Given the description of an element on the screen output the (x, y) to click on. 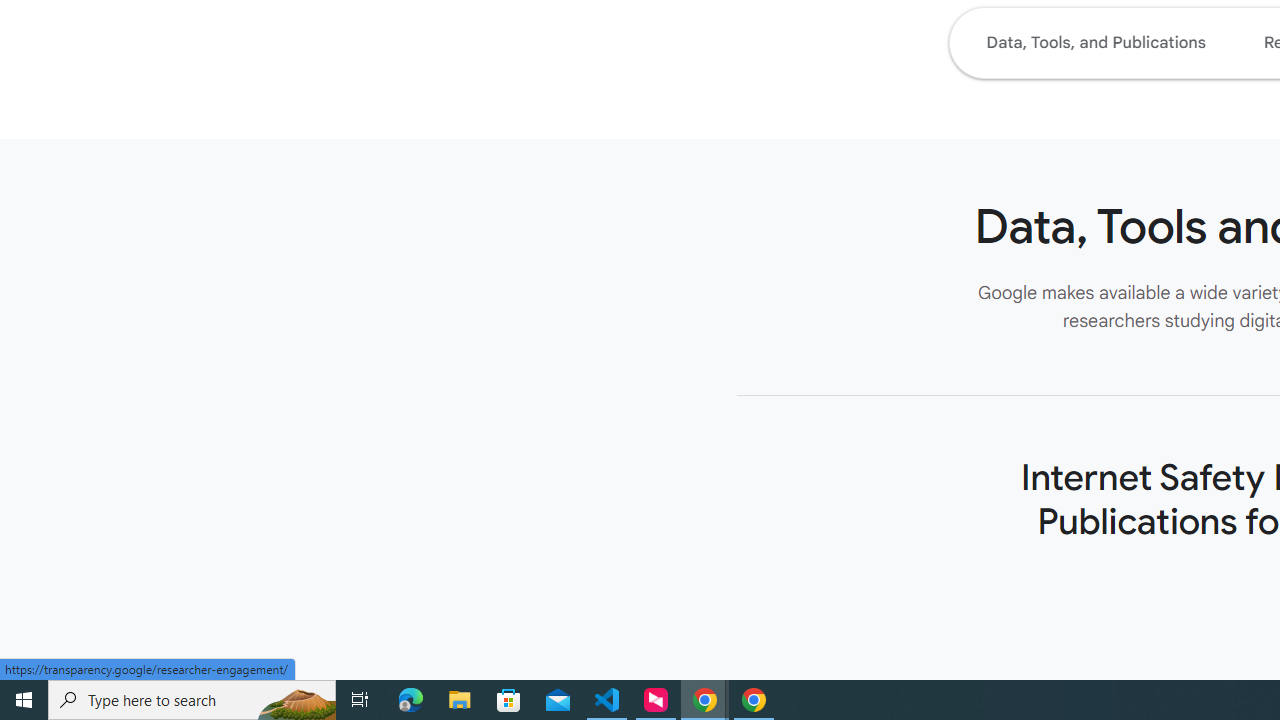
Data, Tools, and Publications (1095, 42)
